Given the description of an element on the screen output the (x, y) to click on. 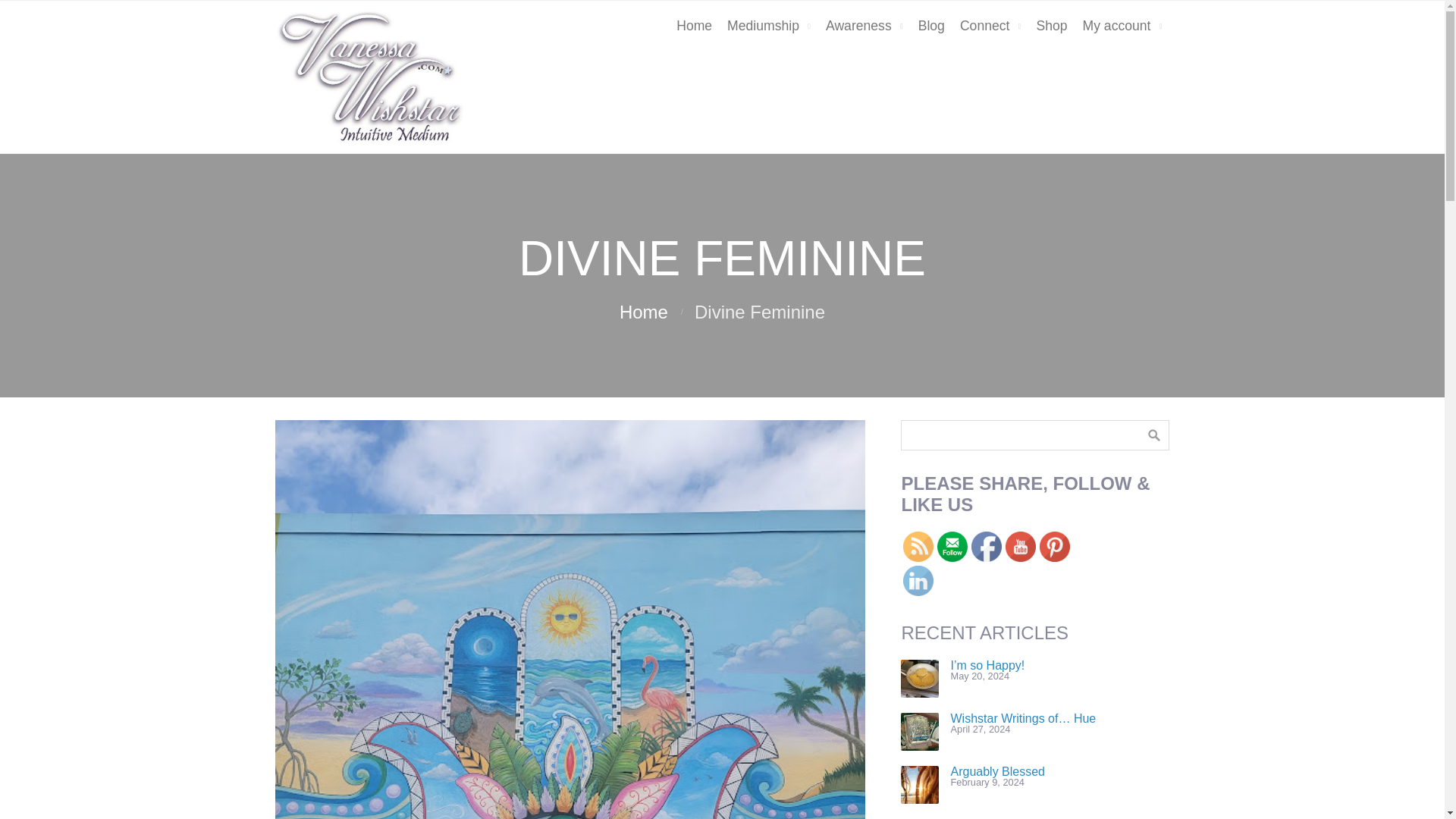
Blog (931, 26)
Mediumship (768, 26)
Shop (1050, 26)
My account (1122, 26)
Home (693, 26)
Awareness (864, 26)
Connect (990, 26)
